Given the description of an element on the screen output the (x, y) to click on. 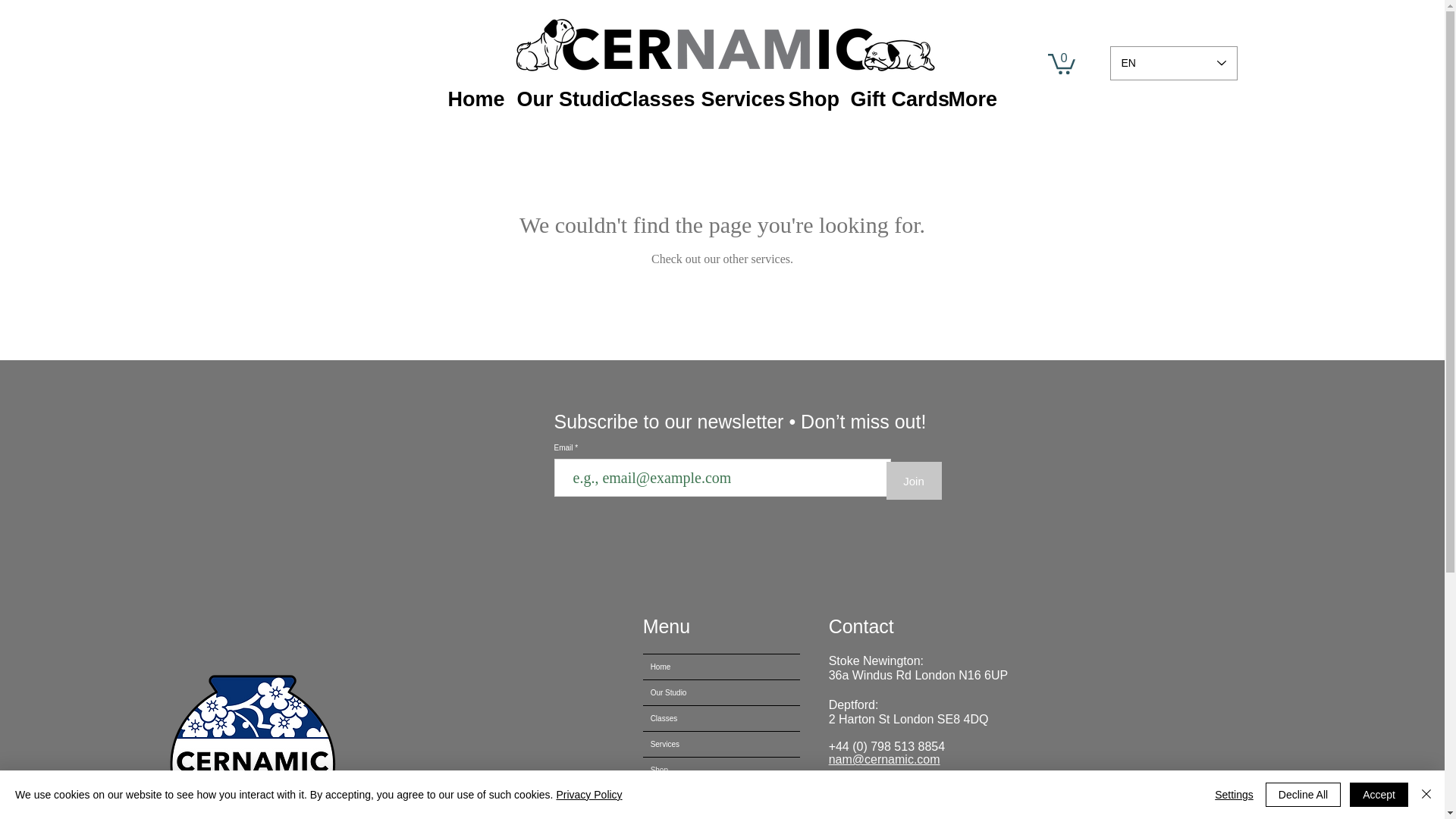
Our Studio (721, 692)
Our Studio (555, 98)
Classes (648, 98)
Classes (721, 718)
0 (1061, 62)
Gift Cards (721, 795)
Shop (807, 98)
Services (733, 98)
Shop (721, 769)
Home (721, 666)
Home (470, 98)
Services (721, 744)
0 (1061, 62)
Gift Cards (887, 98)
FAQ (721, 814)
